Given the description of an element on the screen output the (x, y) to click on. 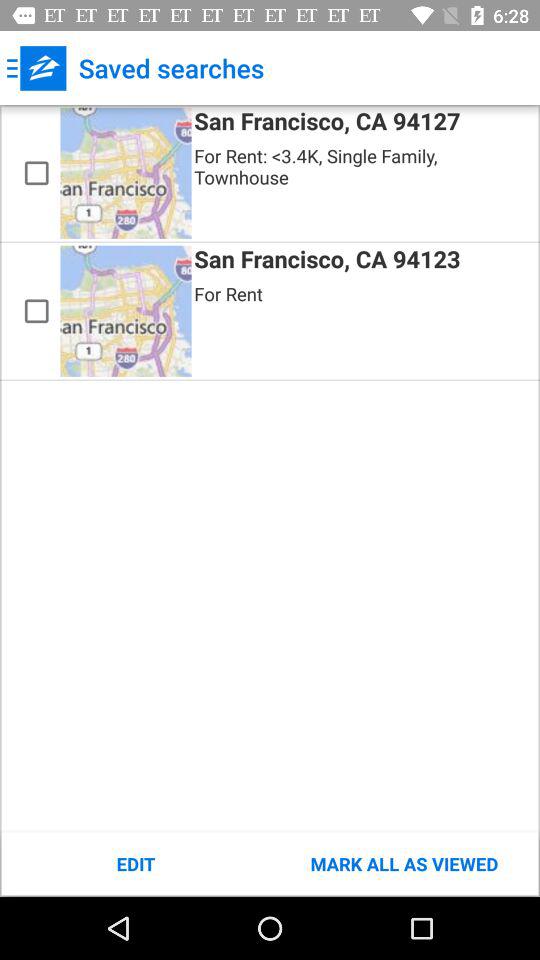
jump to the mark all as item (404, 863)
